Given the description of an element on the screen output the (x, y) to click on. 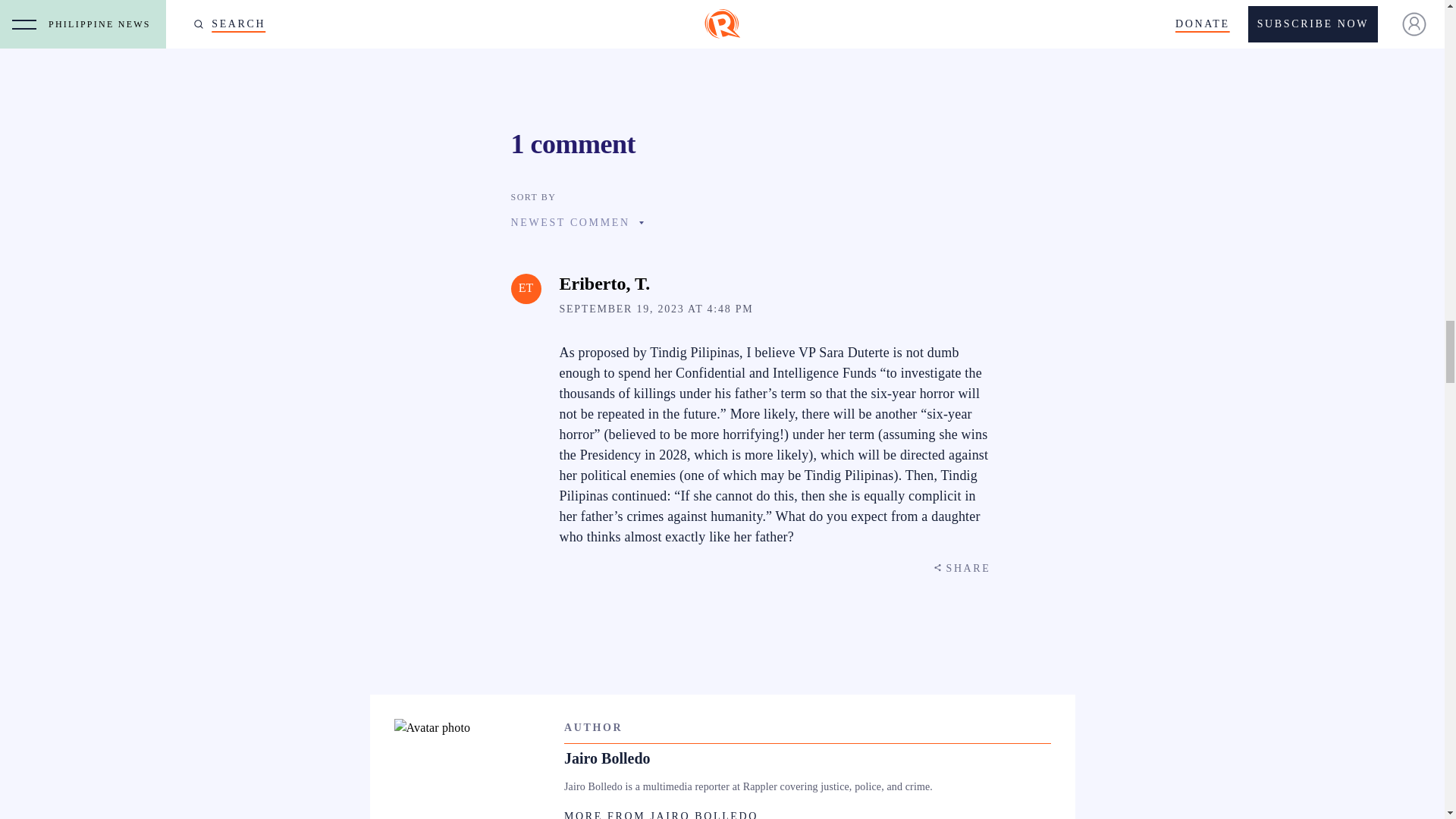
September 19, 2023 at 4:48 pm (656, 308)
